Given the description of an element on the screen output the (x, y) to click on. 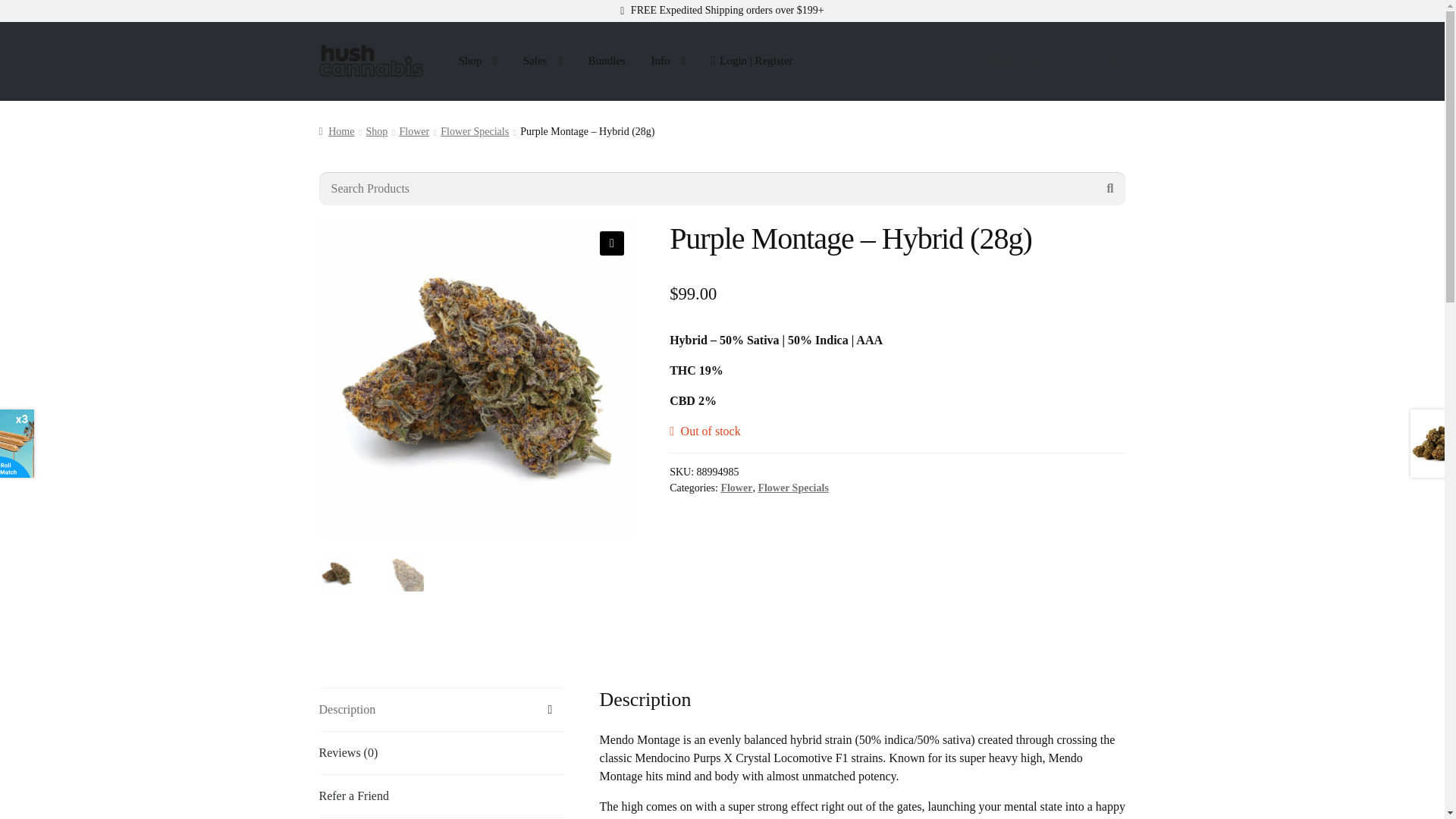
View your shopping cart (1051, 69)
Search for: (721, 188)
Shop (477, 60)
flower-purple-montage (476, 378)
flower-purple-montage-single (792, 378)
